Given the description of an element on the screen output the (x, y) to click on. 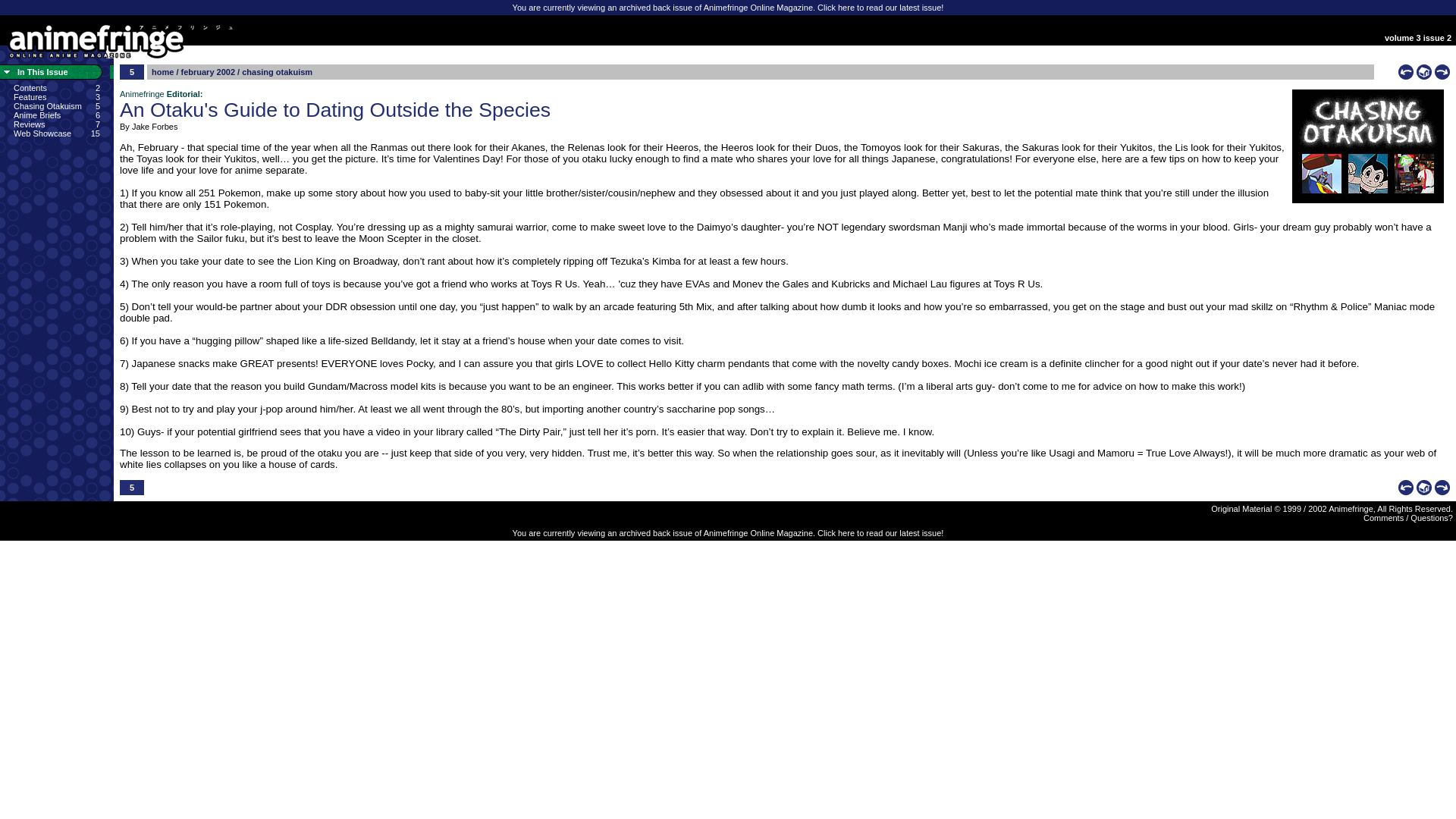
Chasing Otakuism (47, 105)
Web Showcase (42, 133)
Features (29, 96)
Anime Briefs (37, 114)
Contents (29, 87)
15 (95, 133)
Reviews (29, 123)
Jake Forbes (154, 126)
